Given the description of an element on the screen output the (x, y) to click on. 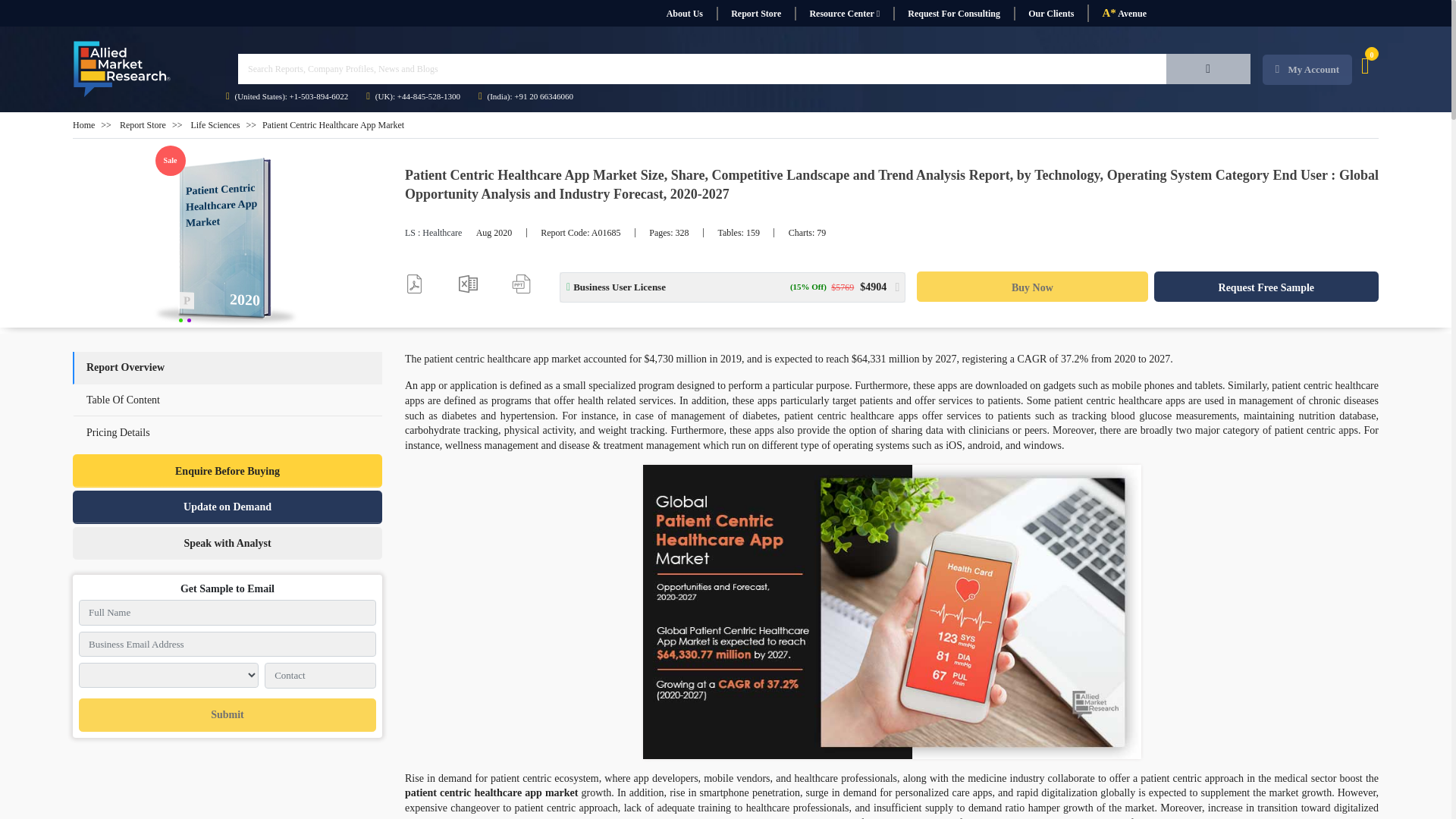
Request For Consulting (953, 13)
Life Sciences (215, 124)
Enquire Before Buying (226, 470)
Allied Market Research (121, 68)
Data Pack Excel (467, 283)
Report Store (755, 13)
Submit (226, 715)
Our Clients (1050, 13)
Buy Now (1032, 286)
Buy Now (1032, 286)
My Account (1307, 69)
Request Free Sample (1266, 286)
About Us (684, 13)
Speak with Analyst (226, 543)
Update on Demand (226, 507)
